Given the description of an element on the screen output the (x, y) to click on. 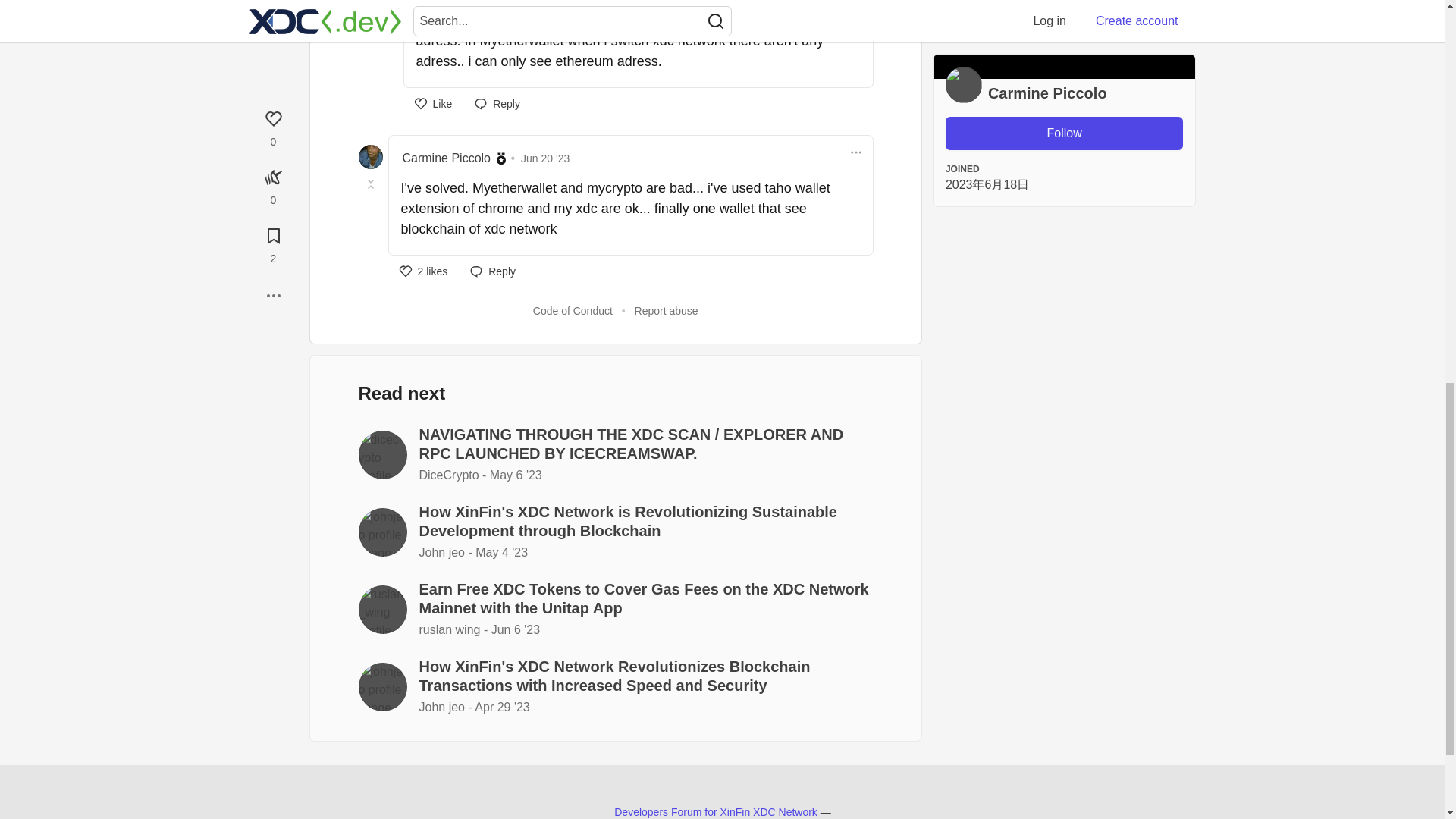
Author (501, 158)
heart (423, 271)
Dropdown menu (855, 152)
heart (433, 103)
